Given the description of an element on the screen output the (x, y) to click on. 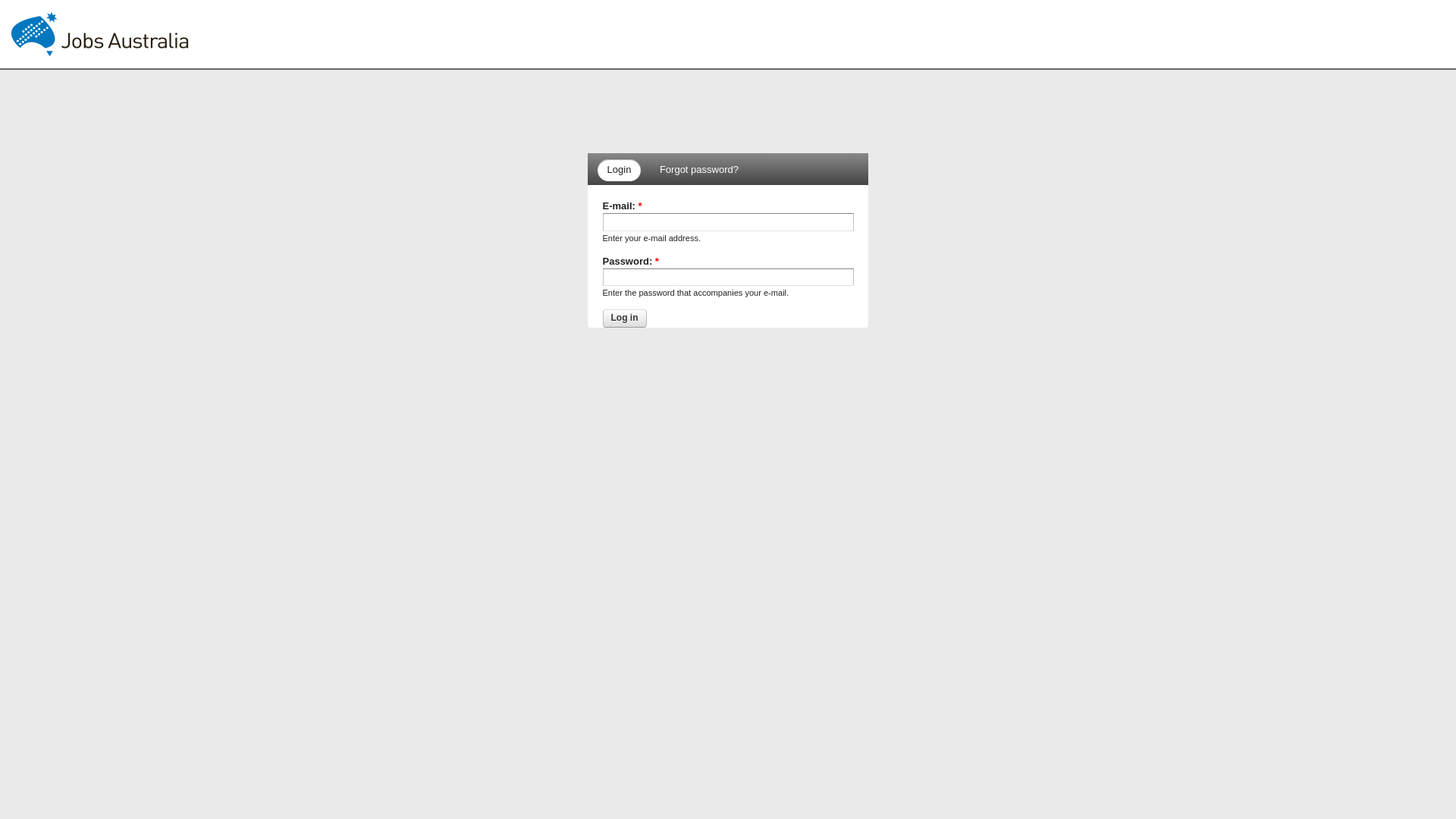
Log in Element type: text (624, 318)
Home Element type: hover (100, 33)
Login Element type: text (619, 170)
Forgot password? Element type: text (698, 170)
